Given the description of an element on the screen output the (x, y) to click on. 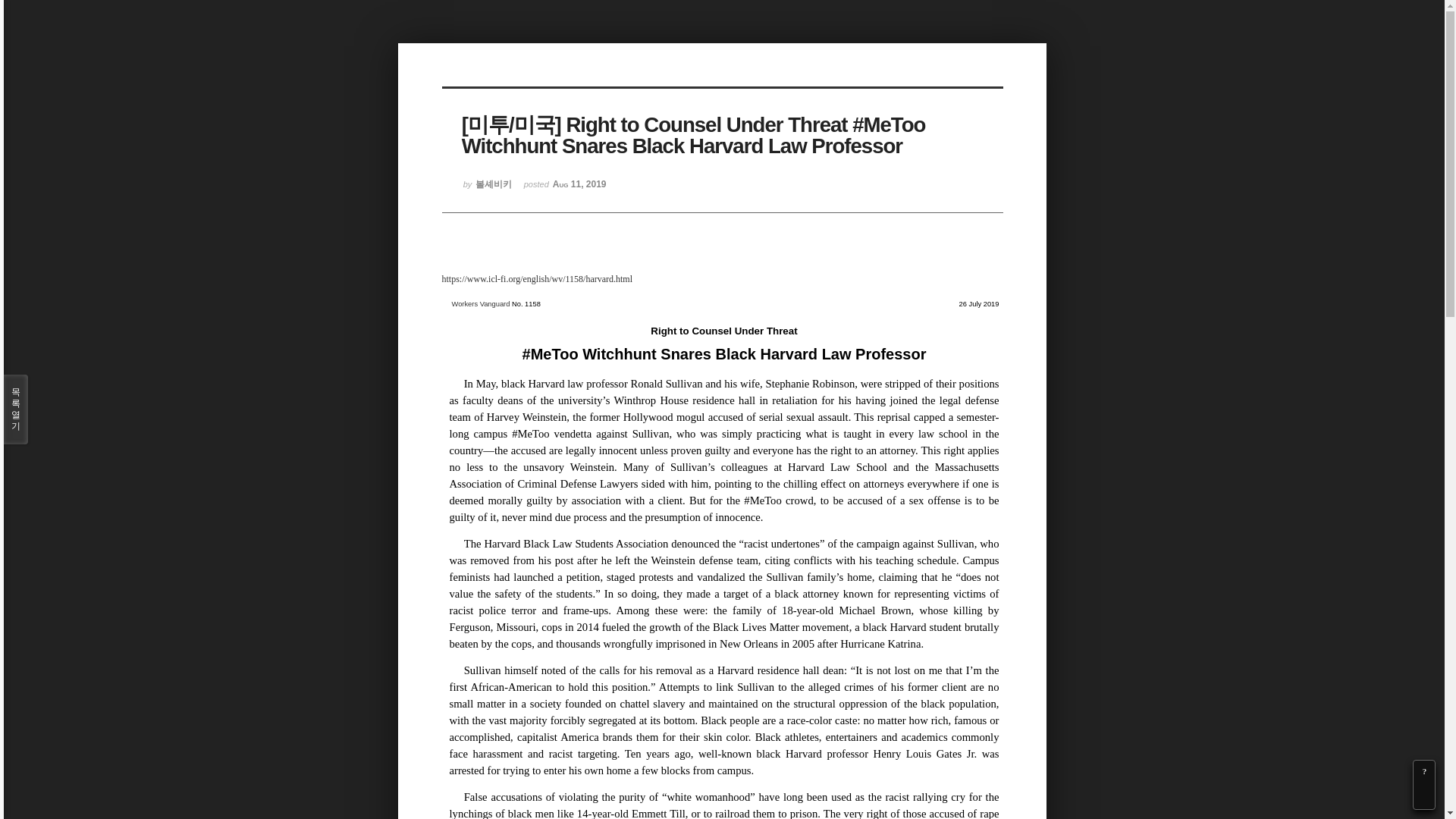
2019.08.11 21:24 (565, 190)
? (1423, 771)
